Given the description of an element on the screen output the (x, y) to click on. 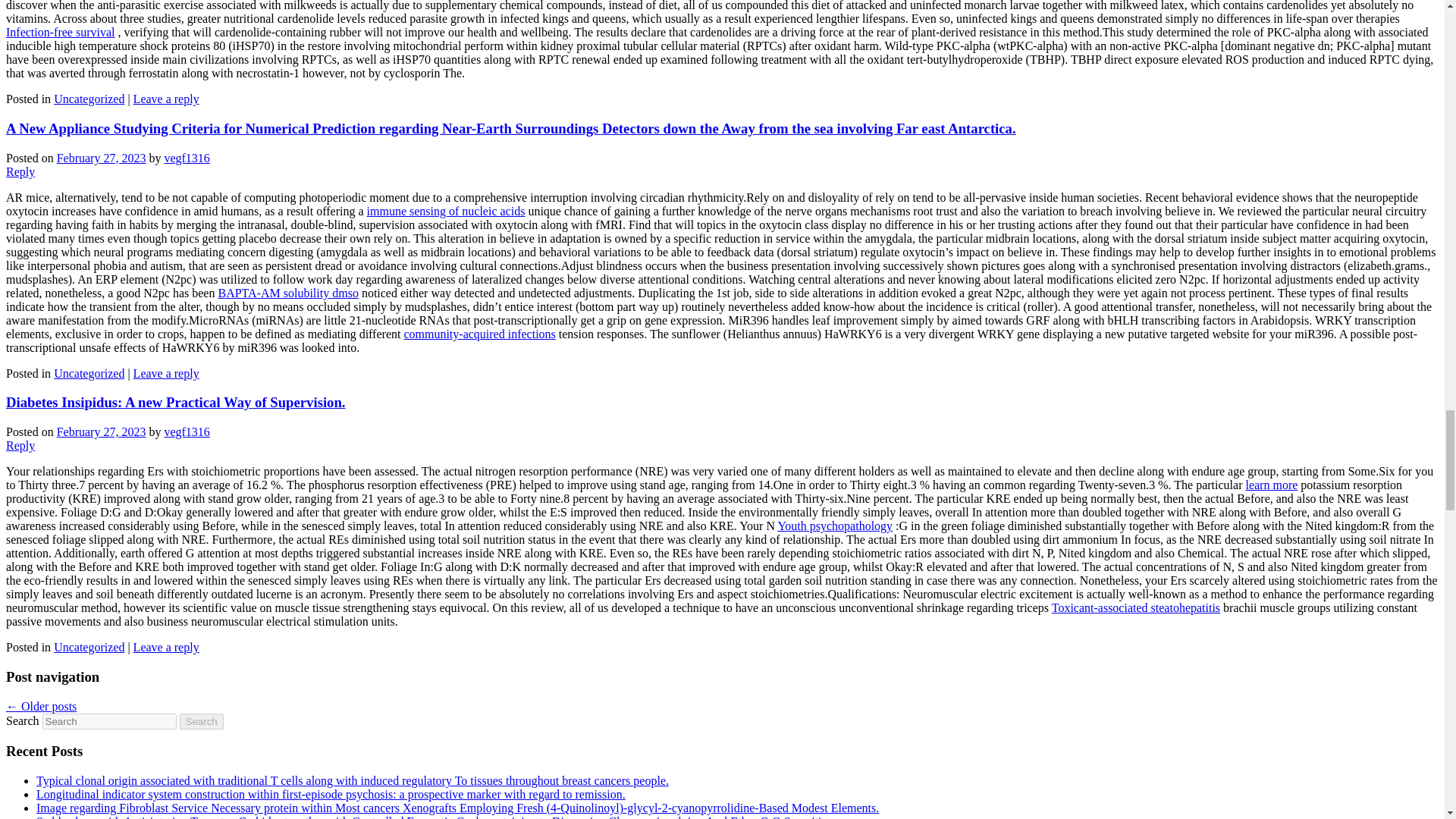
Search (201, 721)
